Given the description of an element on the screen output the (x, y) to click on. 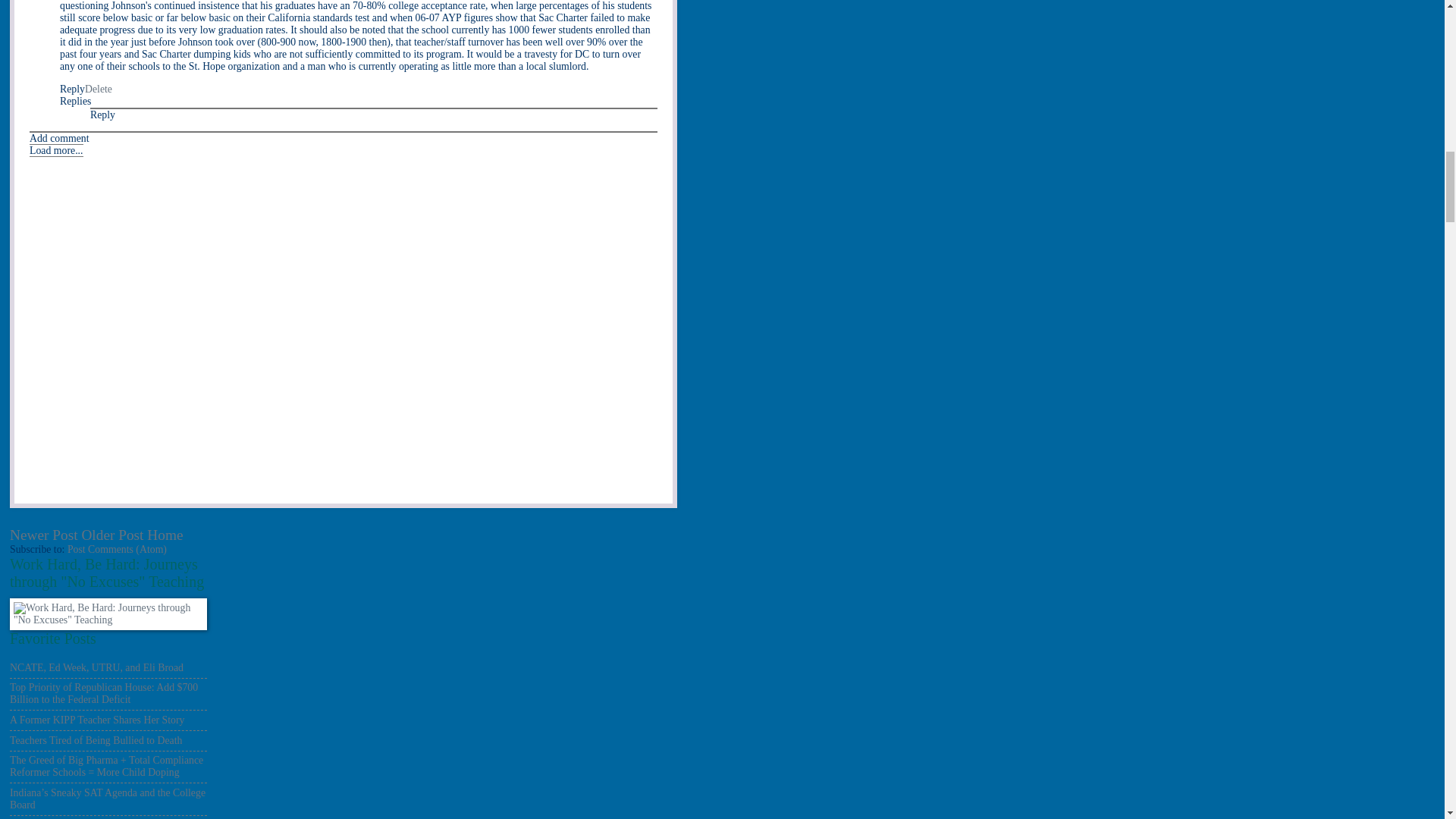
Delete (98, 89)
Reply (102, 114)
Older Post (111, 534)
Older Post (111, 534)
Newer Post (44, 534)
Load more... (55, 150)
Home (165, 534)
Newer Post (44, 534)
Replies (74, 101)
Add comment (58, 138)
NCATE, Ed Week, UTRU, and Eli Broad (96, 667)
Reply (71, 89)
